Given the description of an element on the screen output the (x, y) to click on. 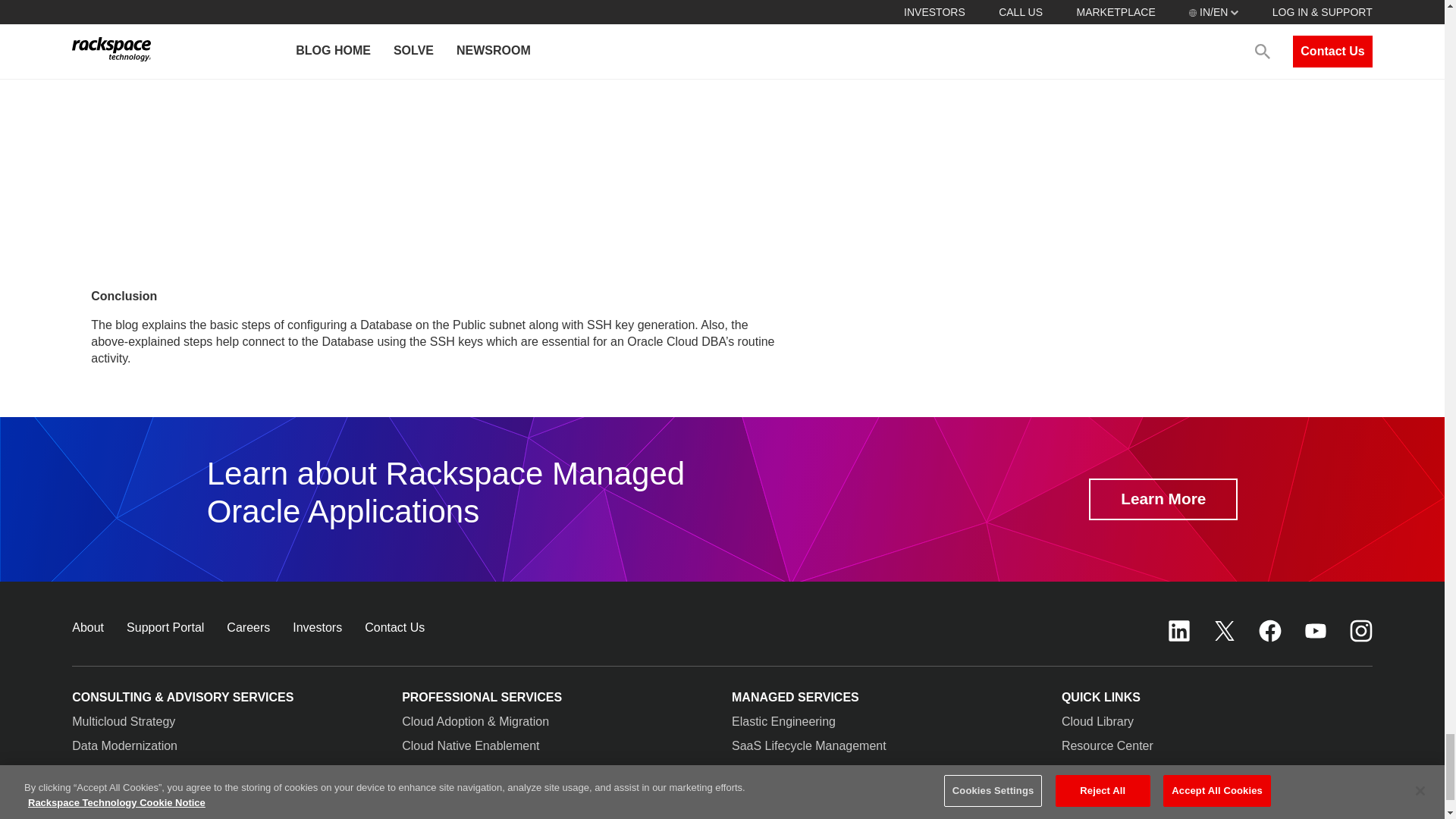
About (87, 626)
Learn More (1163, 499)
Support Portal (164, 626)
